Given the description of an element on the screen output the (x, y) to click on. 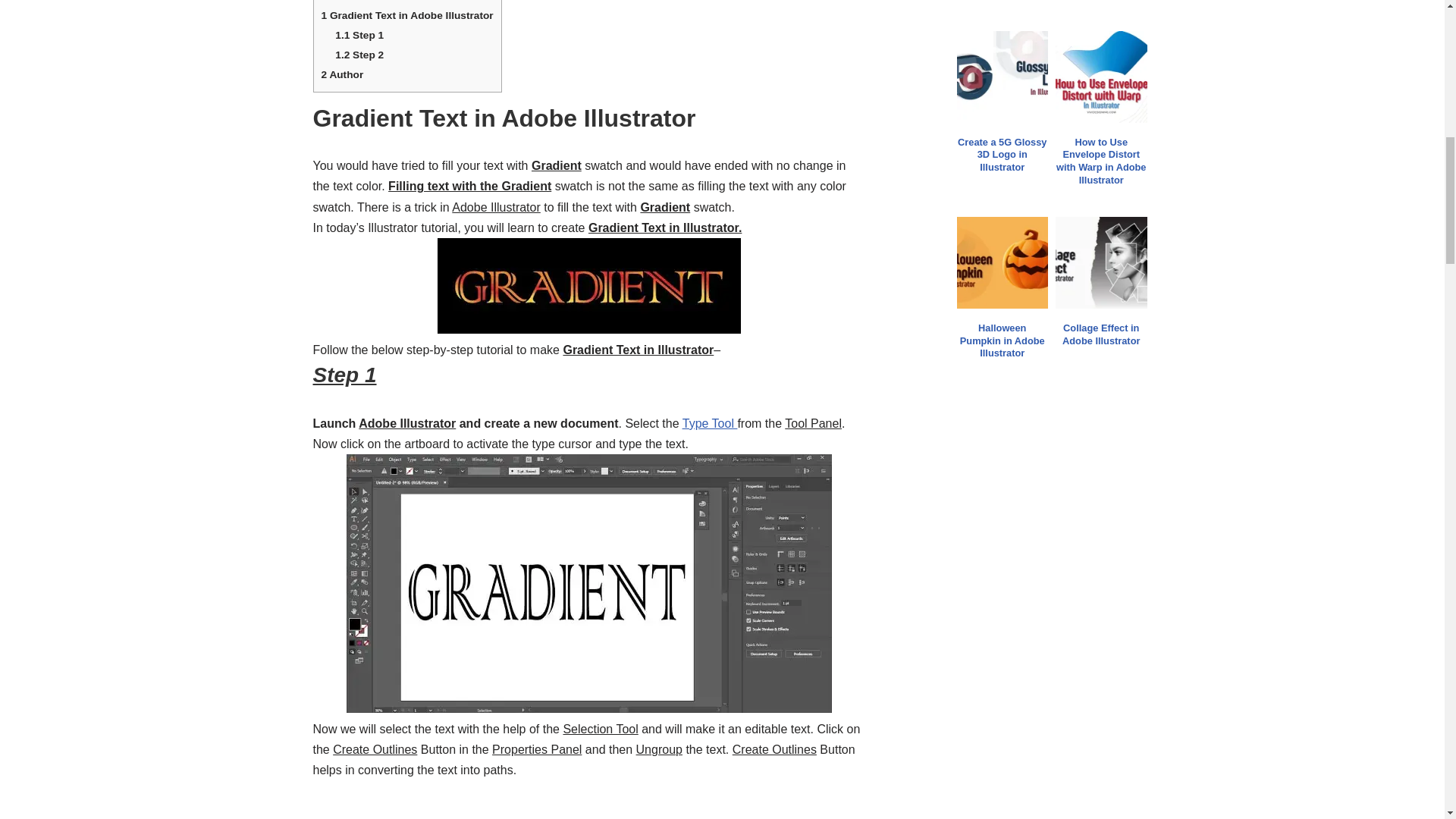
Fill Text with Gradient in Adobe Illustrator (588, 800)
Fill Text with Gradient in Adobe Illustrator (588, 583)
1 Gradient Text in Adobe Illustrator (407, 15)
1.1 Step 1 (359, 34)
Gradient Text in Illustrator (589, 285)
